Given the description of an element on the screen output the (x, y) to click on. 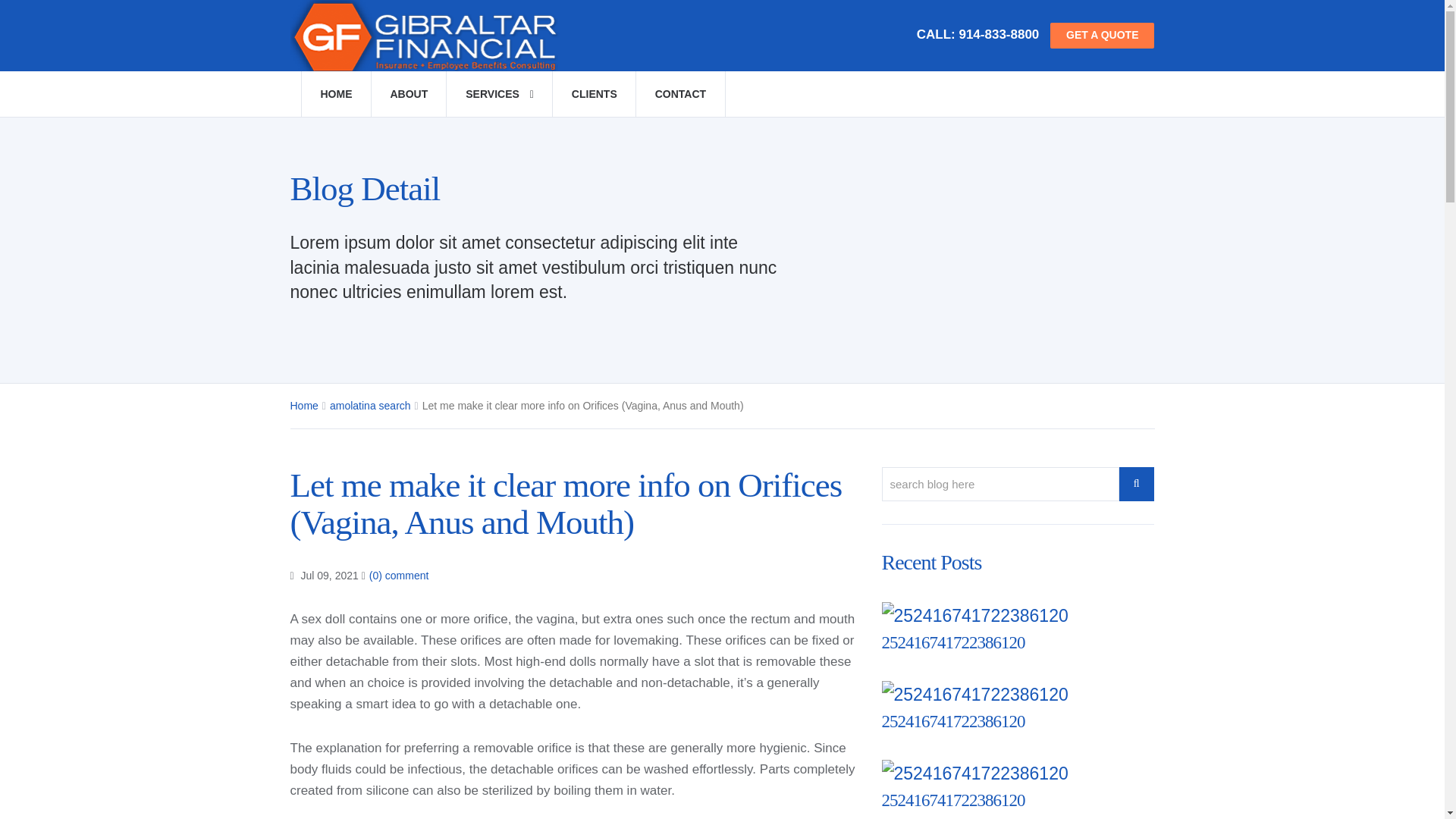
252416741722386120 (952, 642)
Clients (593, 94)
252416741722386120 (952, 800)
GET A QUOTE (1101, 35)
ABOUT (407, 94)
Contact (679, 94)
HOME (335, 94)
252416741722386120 (952, 642)
CONTACT (679, 94)
CLIENTS (593, 94)
